Given the description of an element on the screen output the (x, y) to click on. 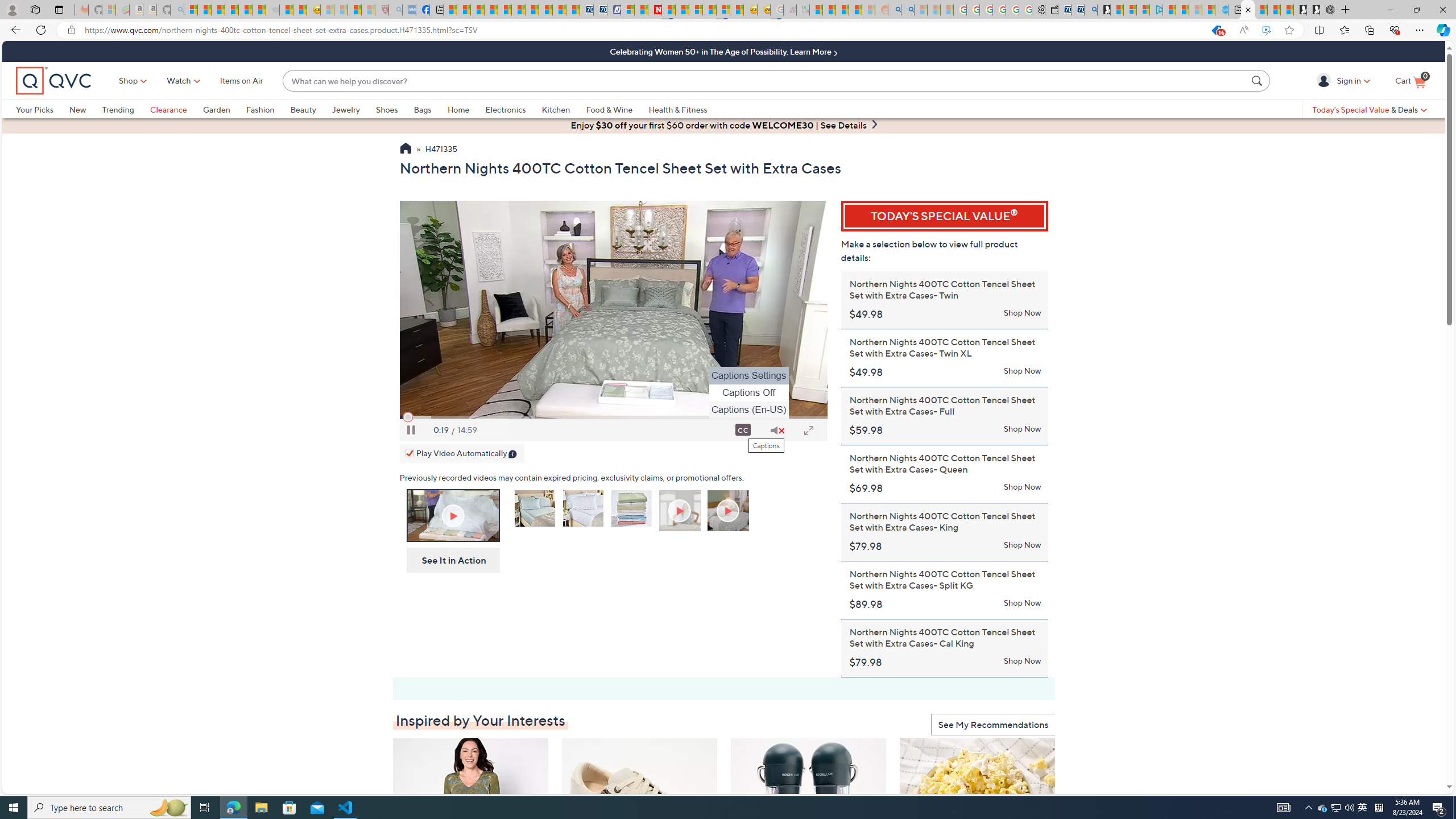
This site has coupons! Shopping in Microsoft Edge, 16 (1216, 29)
Garden (224, 109)
12 Popular Science Lies that Must be Corrected - Sleeping (368, 9)
QVC home (53, 80)
Combat Siege - Sleeping (271, 9)
